Given the description of an element on the screen output the (x, y) to click on. 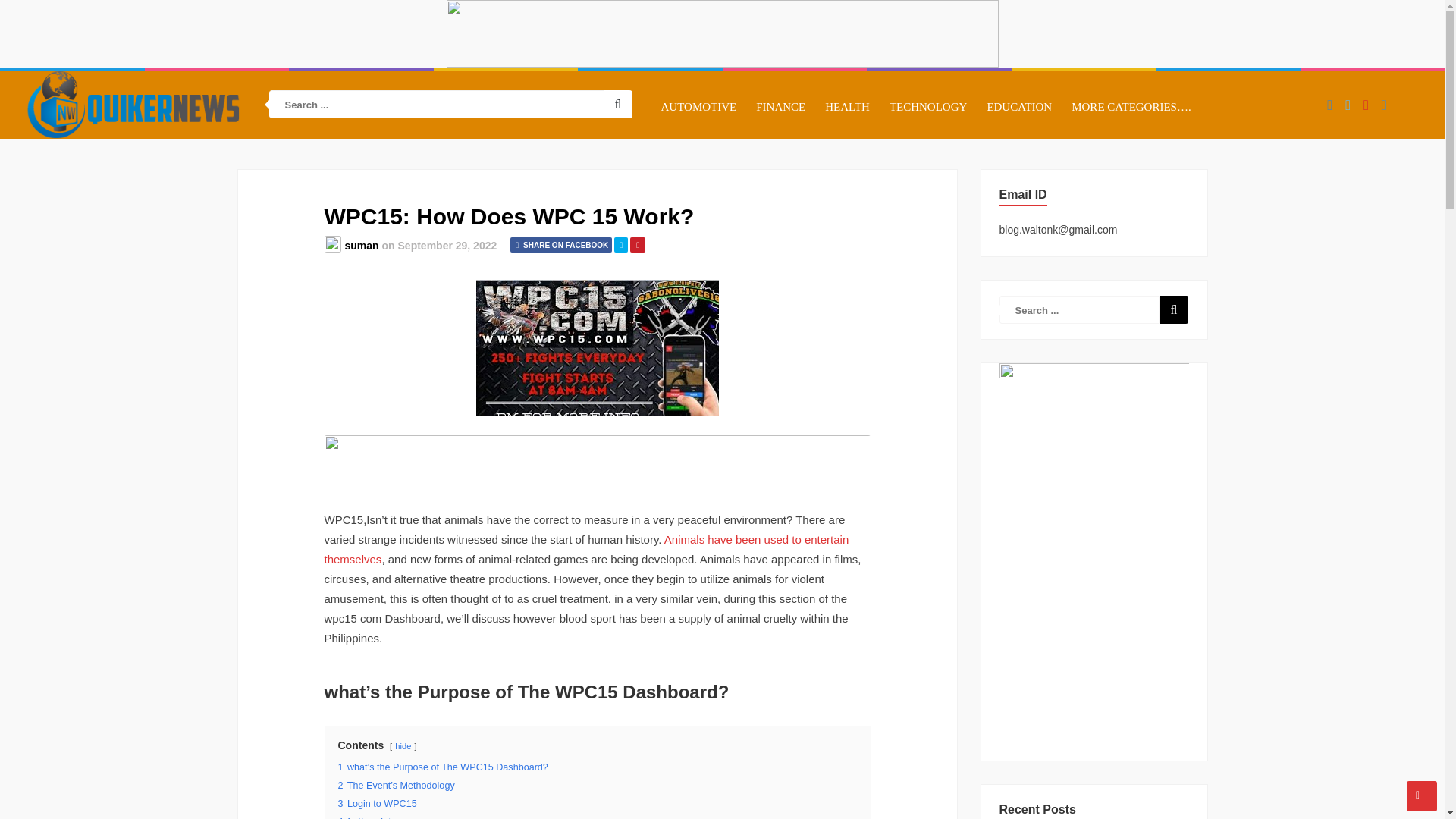
hide (402, 746)
HEALTH (847, 106)
SHARE ON FACEBOOK (561, 244)
TECHNOLOGY (928, 106)
WPC15: How Does WPC 15 Work? 1 (597, 348)
Posts by suman (360, 245)
suman (360, 245)
3 Login to WPC15 (376, 803)
FINANCE (779, 106)
Animals have been used to entertain themselves (586, 549)
